Given the description of an element on the screen output the (x, y) to click on. 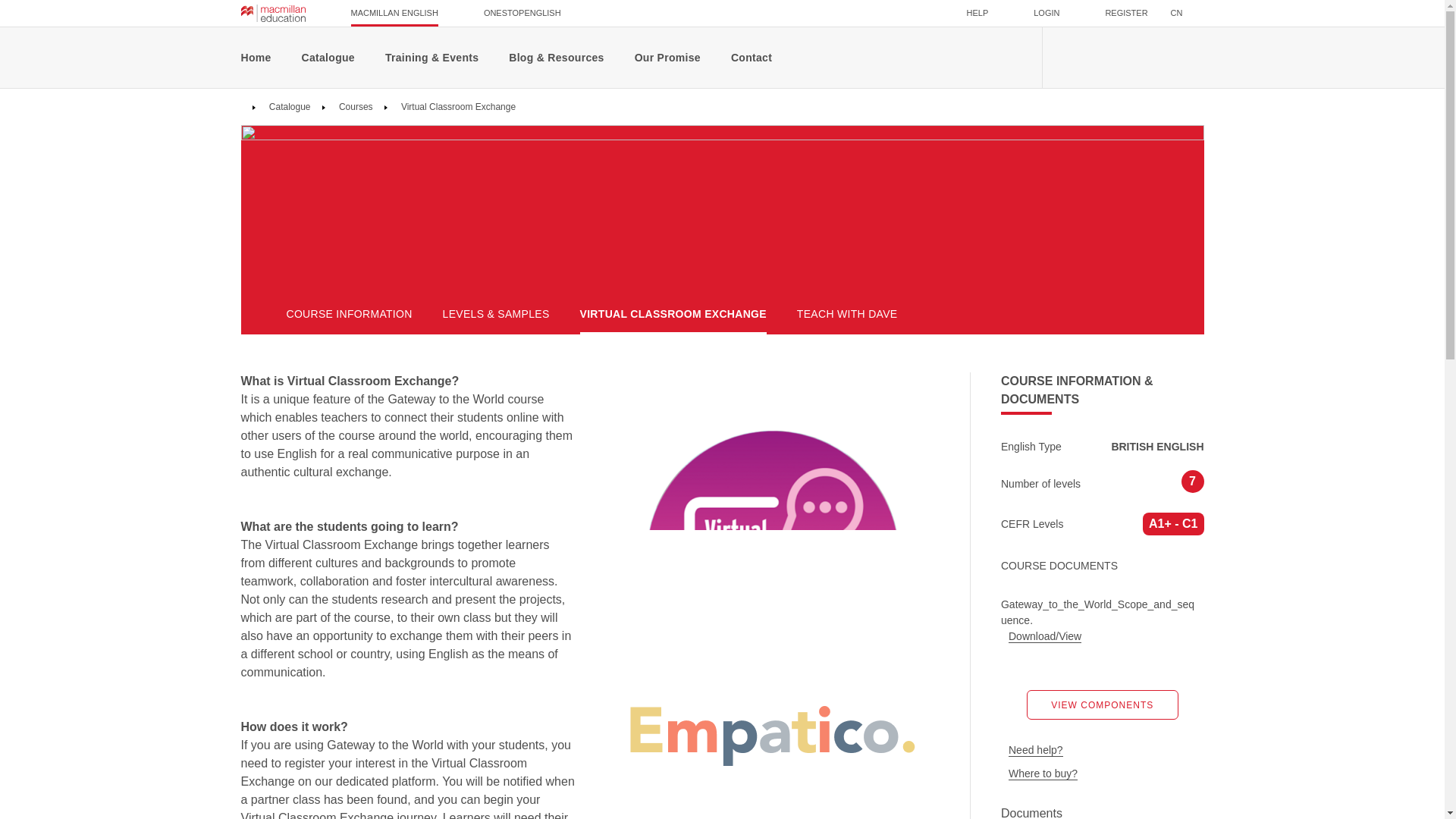
Our Promise (667, 57)
TEACH WITH DAVE (847, 314)
MACMILLAN ENGLISH (394, 13)
ONESTOPENGLISH (521, 13)
Virtual Classroom Exchange (457, 106)
Catalogue (288, 106)
Courses (354, 106)
LOGIN (1046, 13)
VIEW COMPONENTS (1101, 704)
Catalogue (288, 106)
